Given the description of an element on the screen output the (x, y) to click on. 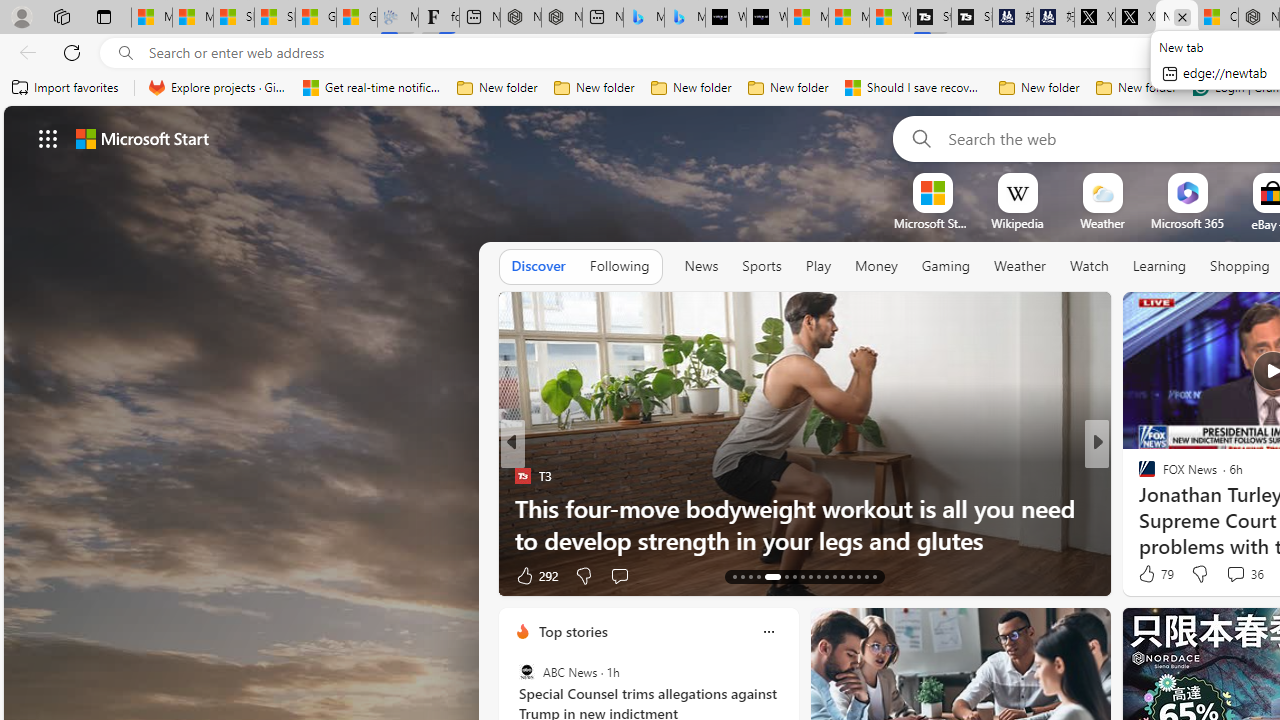
AutomationID: tab-23 (825, 576)
Shopping (1240, 265)
Ad Choice (479, 575)
The Weather Channel (1138, 475)
ABC News (526, 672)
Refresh (72, 52)
Forge of Empires (1175, 507)
View comments 312 Comment (1247, 574)
Start the conversation (1229, 575)
Nordace (1153, 475)
What's the best AI voice generator? - voice.ai (767, 17)
Ad (1142, 575)
Microsoft Start Sports (932, 223)
Sports (761, 265)
Dislike (1199, 574)
